Given the description of an element on the screen output the (x, y) to click on. 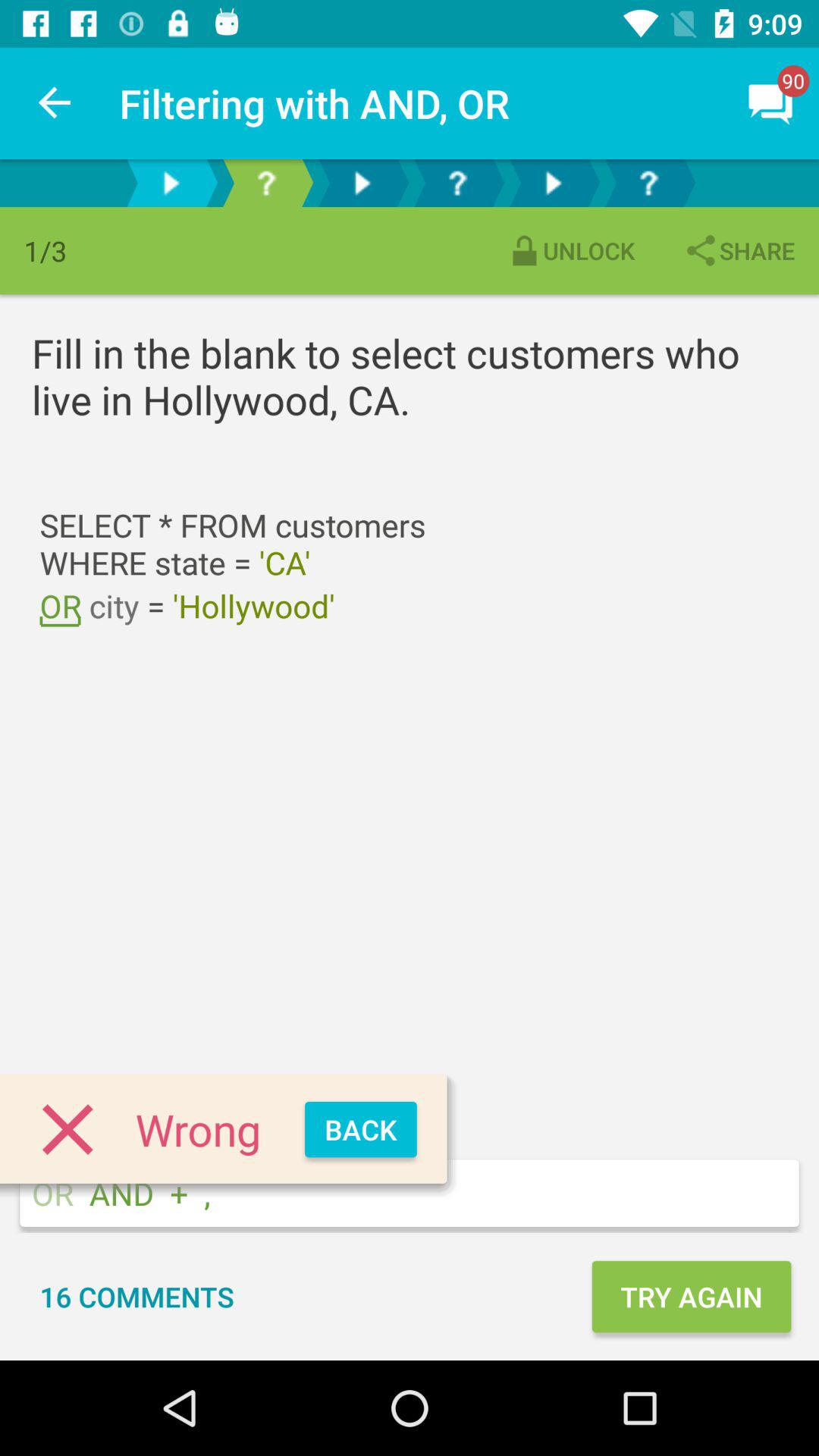
select item to the right of 16 comments item (691, 1296)
